Given the description of an element on the screen output the (x, y) to click on. 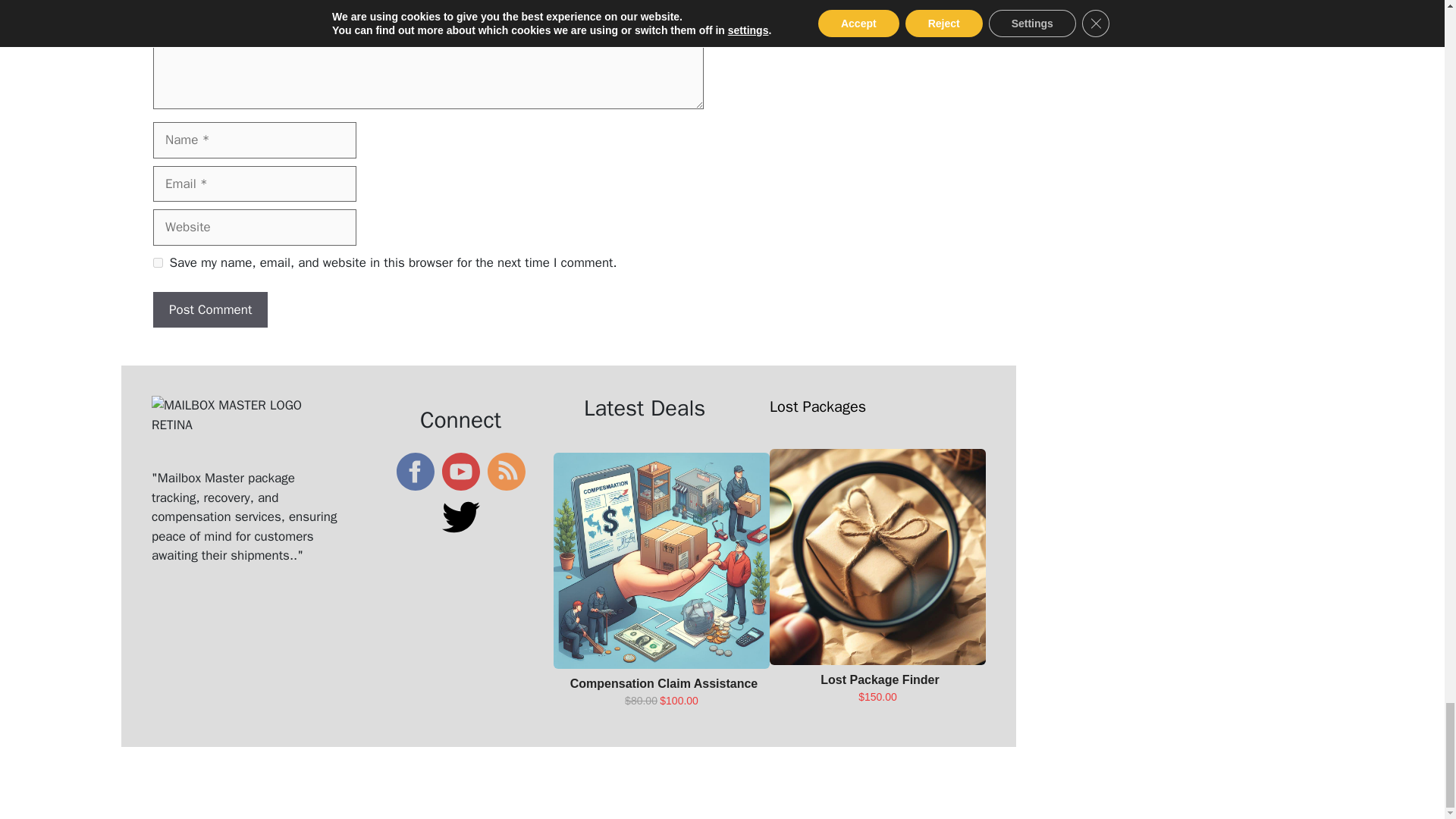
yes (157, 262)
Post Comment (209, 309)
Post Comment (209, 309)
